Given the description of an element on the screen output the (x, y) to click on. 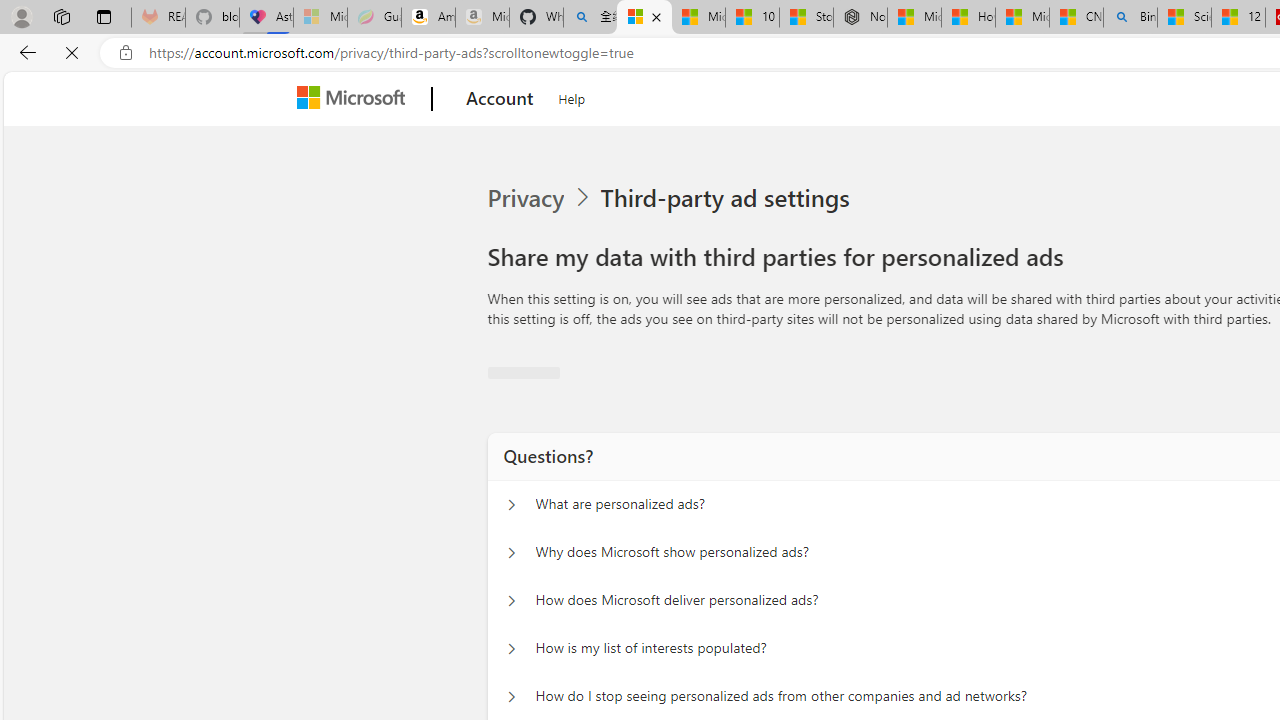
Third-party ad settings (729, 197)
